Given the description of an element on the screen output the (x, y) to click on. 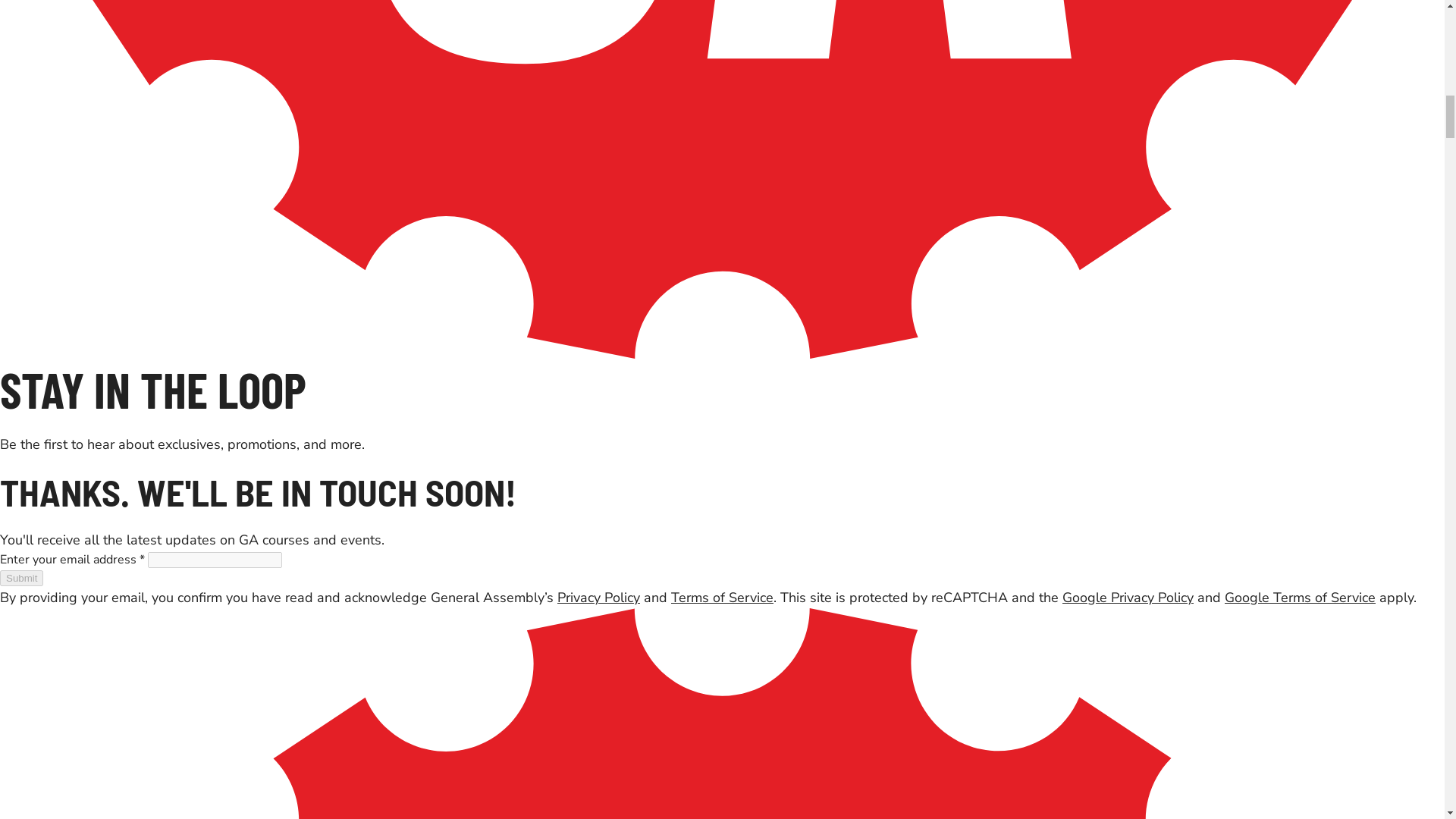
Privacy Policy (598, 597)
Google Privacy Policy (1127, 597)
Submit (21, 578)
Submit (21, 578)
Terms of Service (722, 597)
Google Terms of Service (1299, 597)
